Given the description of an element on the screen output the (x, y) to click on. 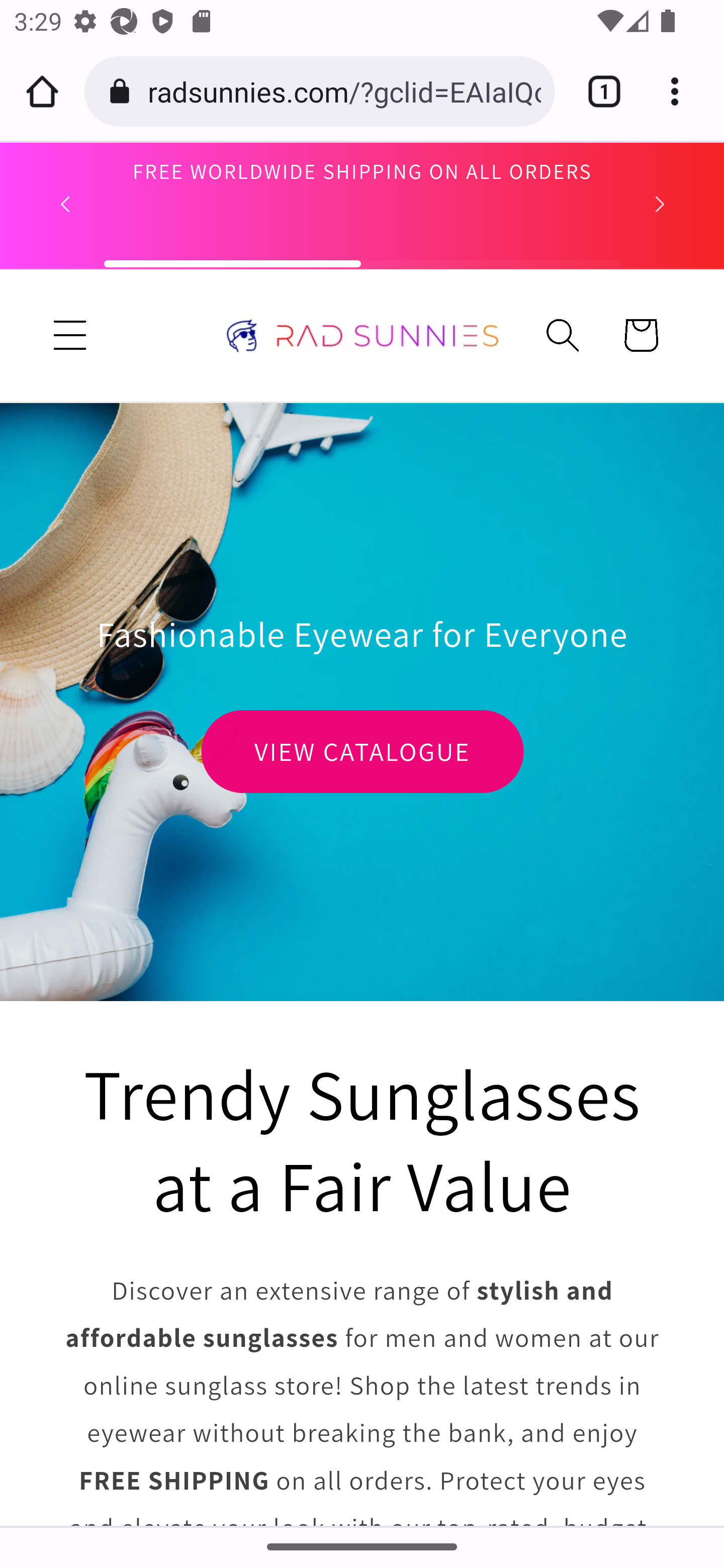
Home (42, 91)
Connection is secure (122, 91)
Switch or close tabs (597, 91)
More options (681, 91)
Previous announcement (64, 204)
Next announcement (659, 204)
Rad Sunnies Rad Sunnies Rad Sunnies (362, 335)
Menu (70, 334)
Search (563, 334)
Cart (640, 334)
VIEW CATALOGUE (362, 750)
